Given the description of an element on the screen output the (x, y) to click on. 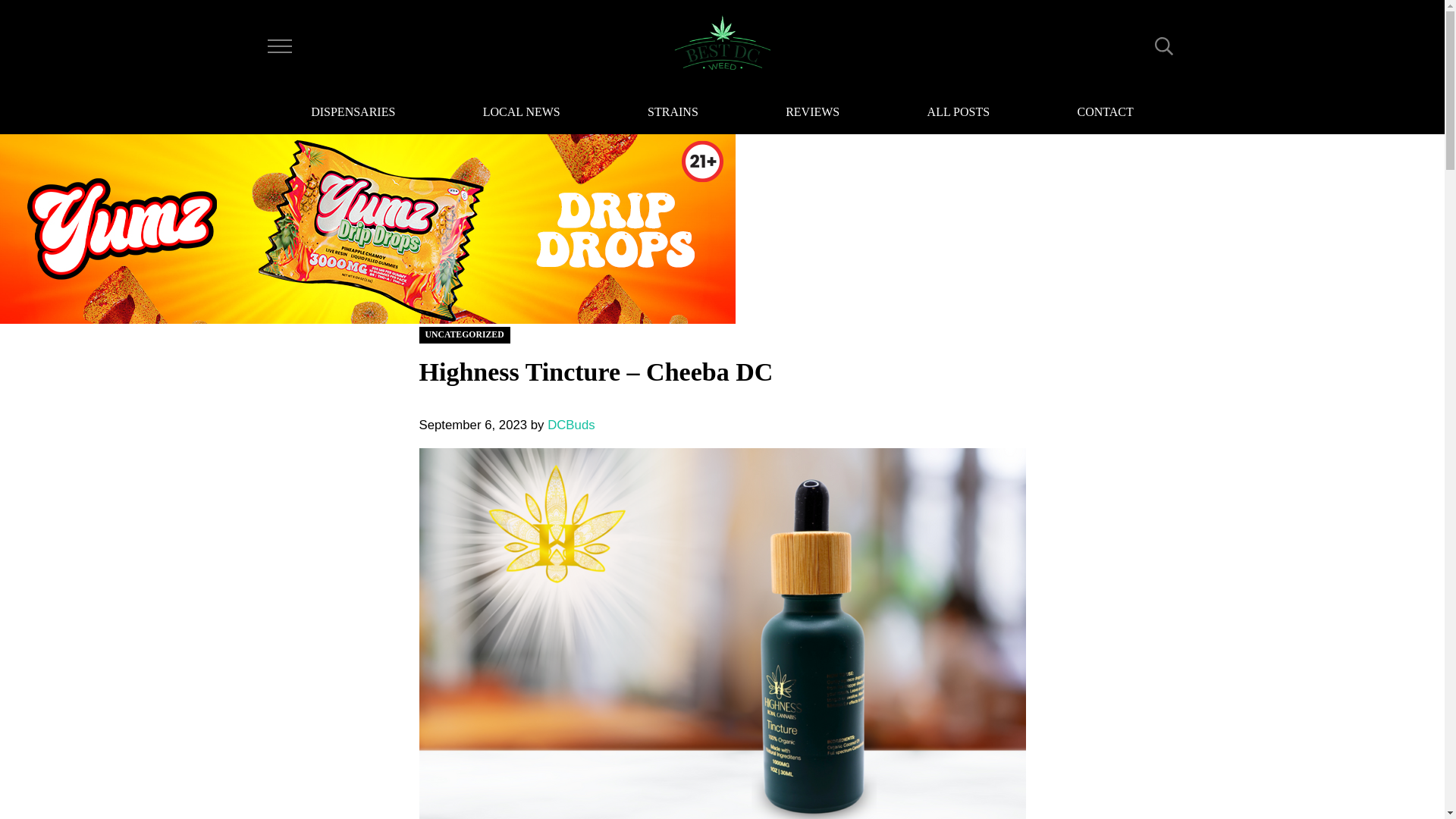
UNCATEGORIZED (464, 334)
DCBuds (570, 425)
STRAINS (672, 113)
CONTACT (1104, 113)
REVIEWS (812, 113)
Menu (278, 46)
LOCAL NEWS (521, 113)
ALL POSTS (959, 113)
DISPENSARIES (352, 113)
